Given the description of an element on the screen output the (x, y) to click on. 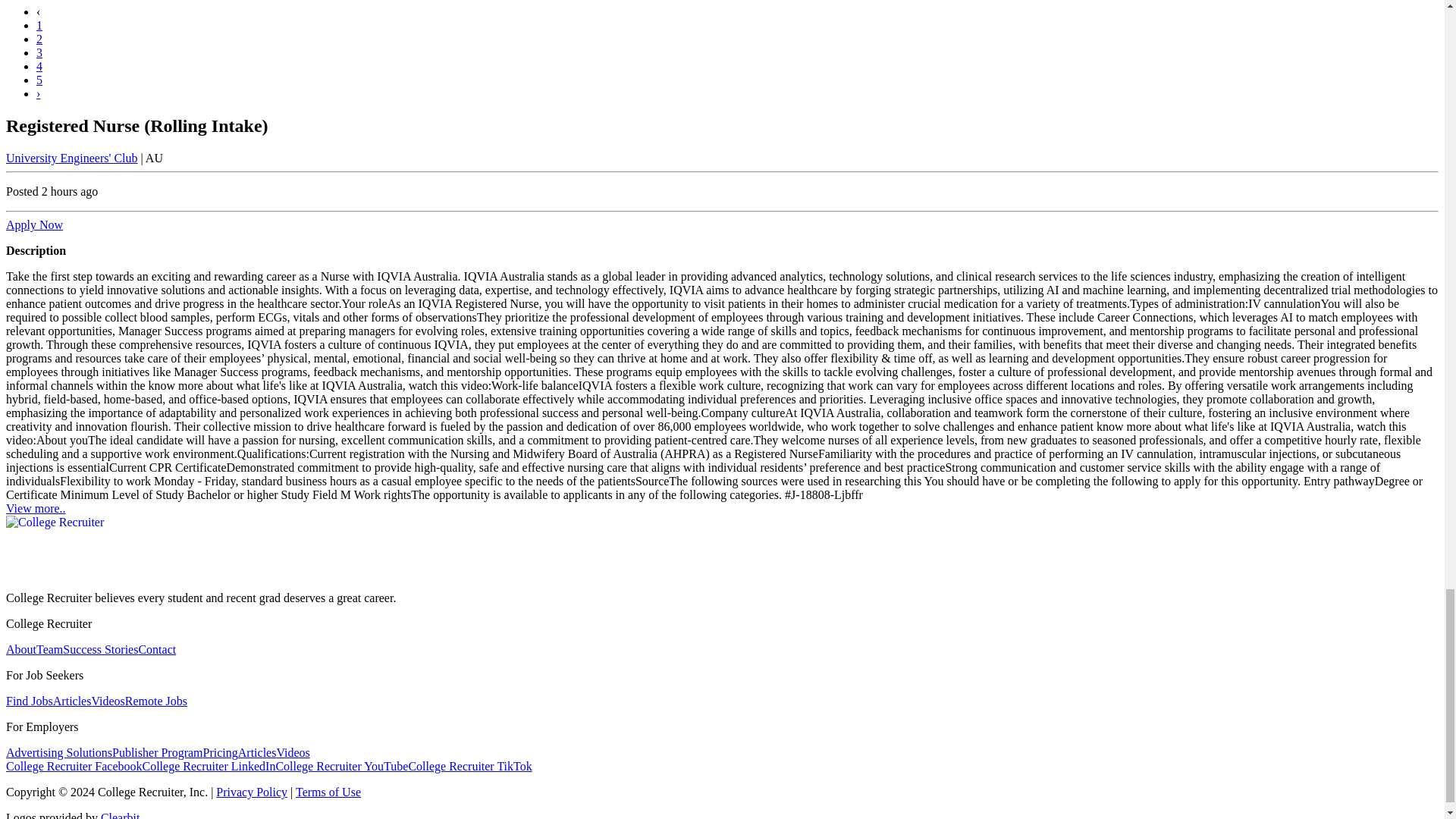
2 (39, 38)
3 (39, 51)
Apply Now (33, 224)
1 (39, 24)
University Engineers' Club (71, 157)
5 (39, 79)
4 (39, 65)
